Given the description of an element on the screen output the (x, y) to click on. 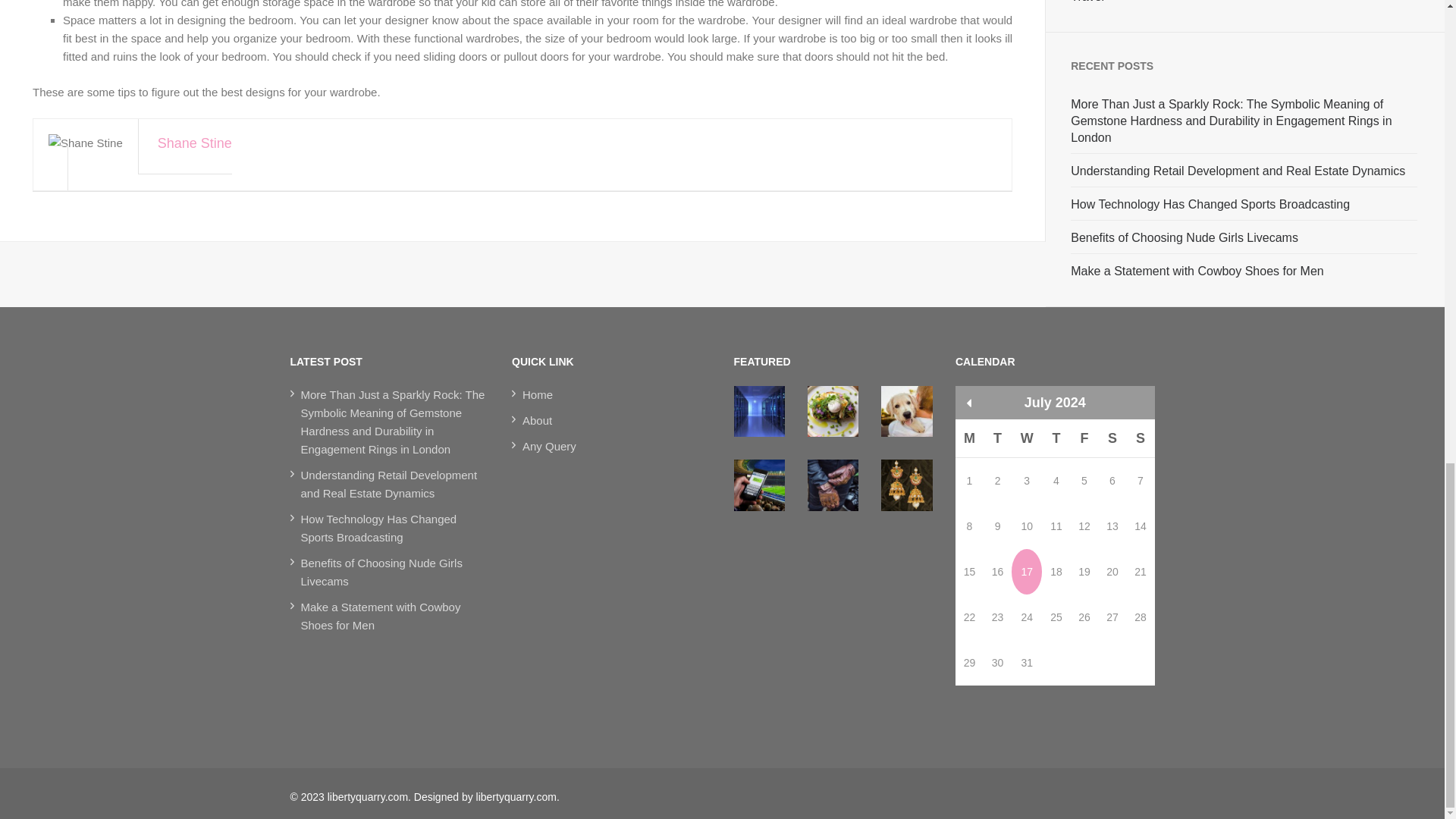
Shane Stine (529, 160)
